Given the description of an element on the screen output the (x, y) to click on. 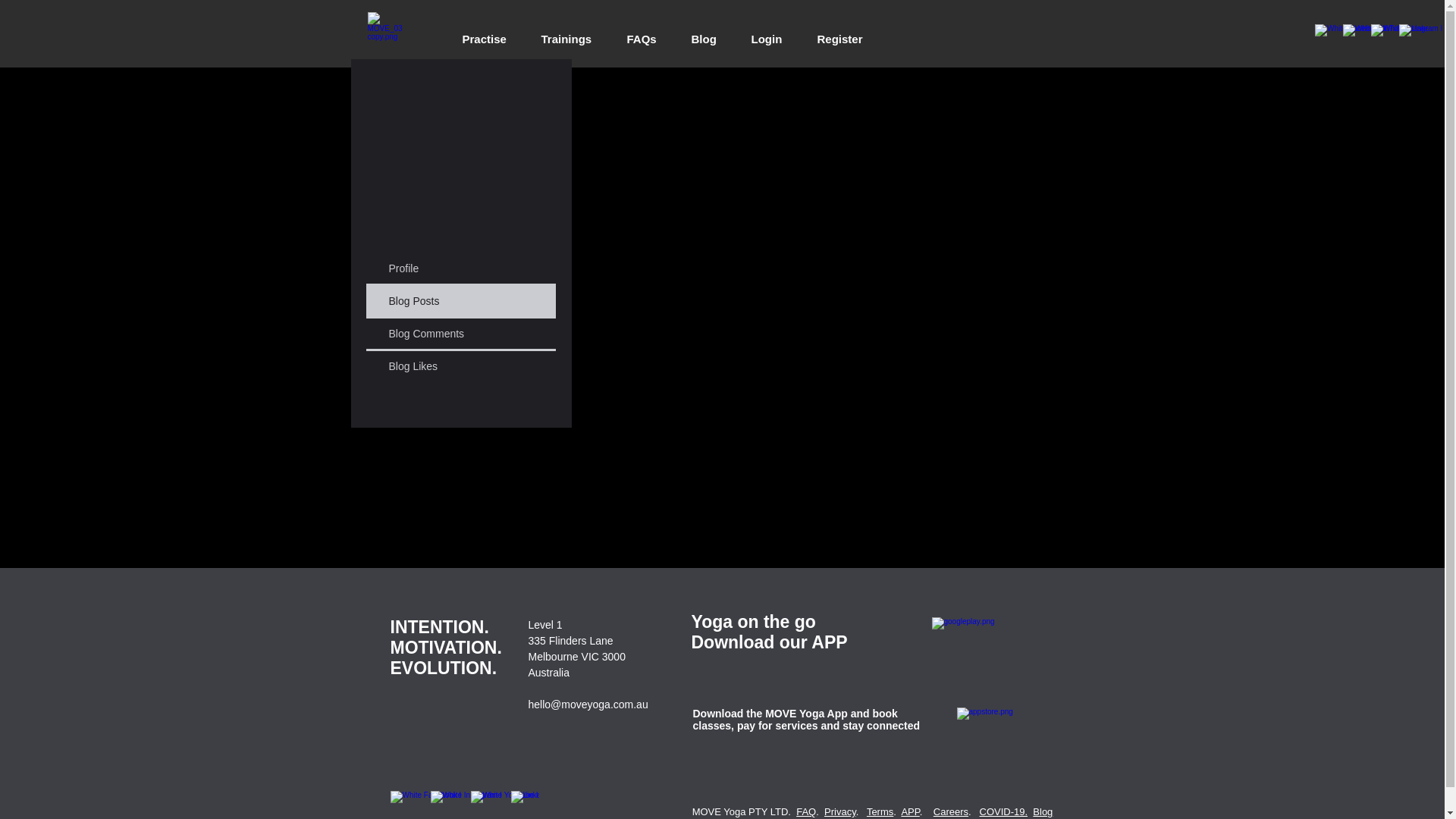
hello@moveyoga.com.au Element type: text (587, 704)
Profile Element type: text (460, 268)
APP Element type: text (909, 811)
Register Element type: text (839, 32)
FAQs Element type: text (641, 32)
Blog Likes Element type: text (460, 366)
Blog Element type: text (1042, 811)
Blog Posts Element type: text (460, 300)
FAQ Element type: text (805, 811)
Privacy Element type: text (840, 811)
Blog Element type: text (703, 32)
Blog Comments Element type: text (460, 333)
Careers Element type: text (950, 811)
Login Element type: text (767, 32)
Terms Element type: text (879, 811)
COVID-19. Element type: text (1003, 811)
